Given the description of an element on the screen output the (x, y) to click on. 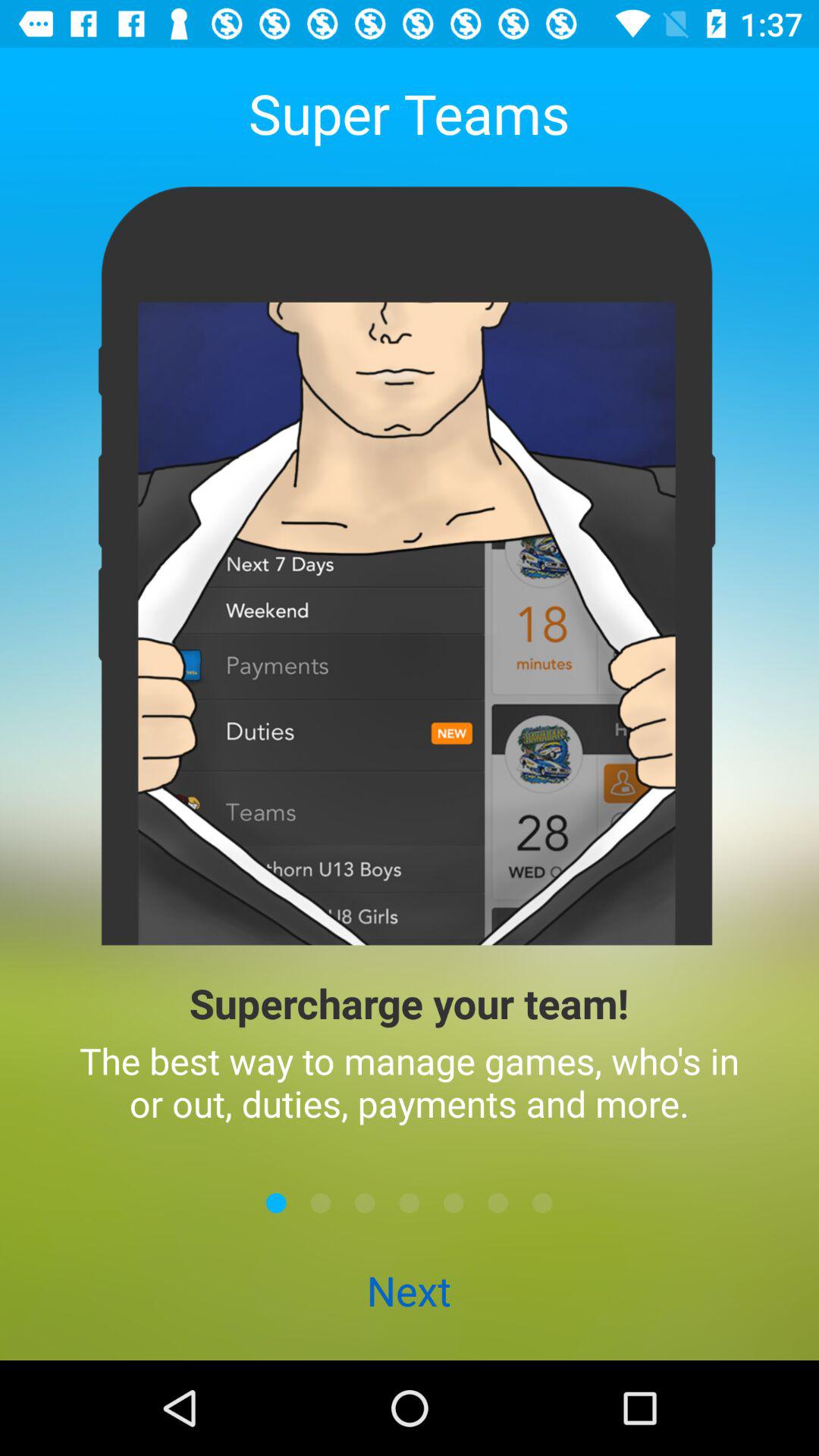
go to first slide (276, 1203)
